Given the description of an element on the screen output the (x, y) to click on. 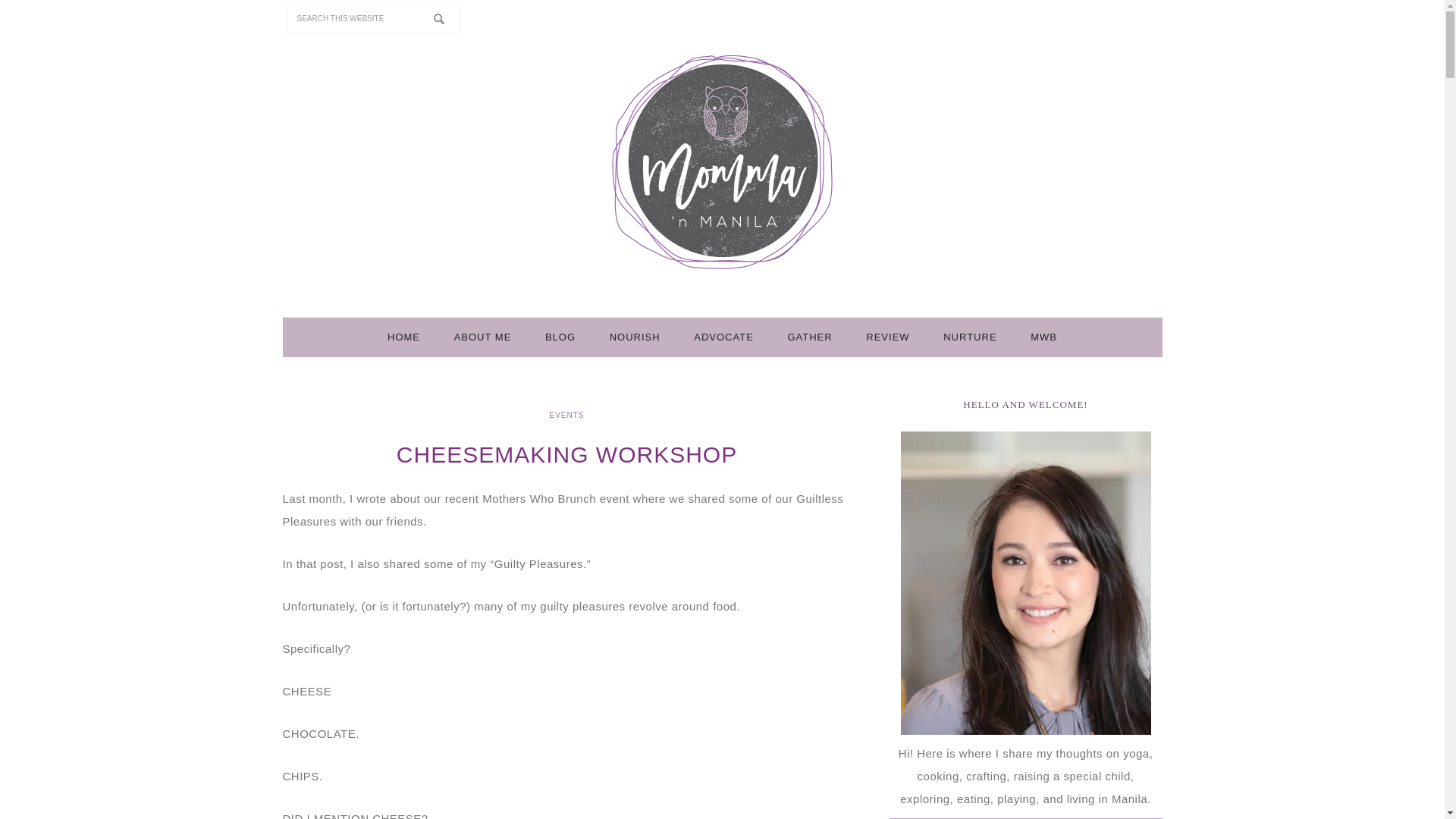
NOURISH (634, 337)
MWB (1042, 337)
ADVOCATE (723, 337)
NURTURE (969, 337)
GATHER (809, 337)
BLOG (560, 337)
HOME (403, 337)
REVIEW (887, 337)
ABOUT ME (483, 337)
MOMMA 'N MANILA (721, 160)
